Given the description of an element on the screen output the (x, y) to click on. 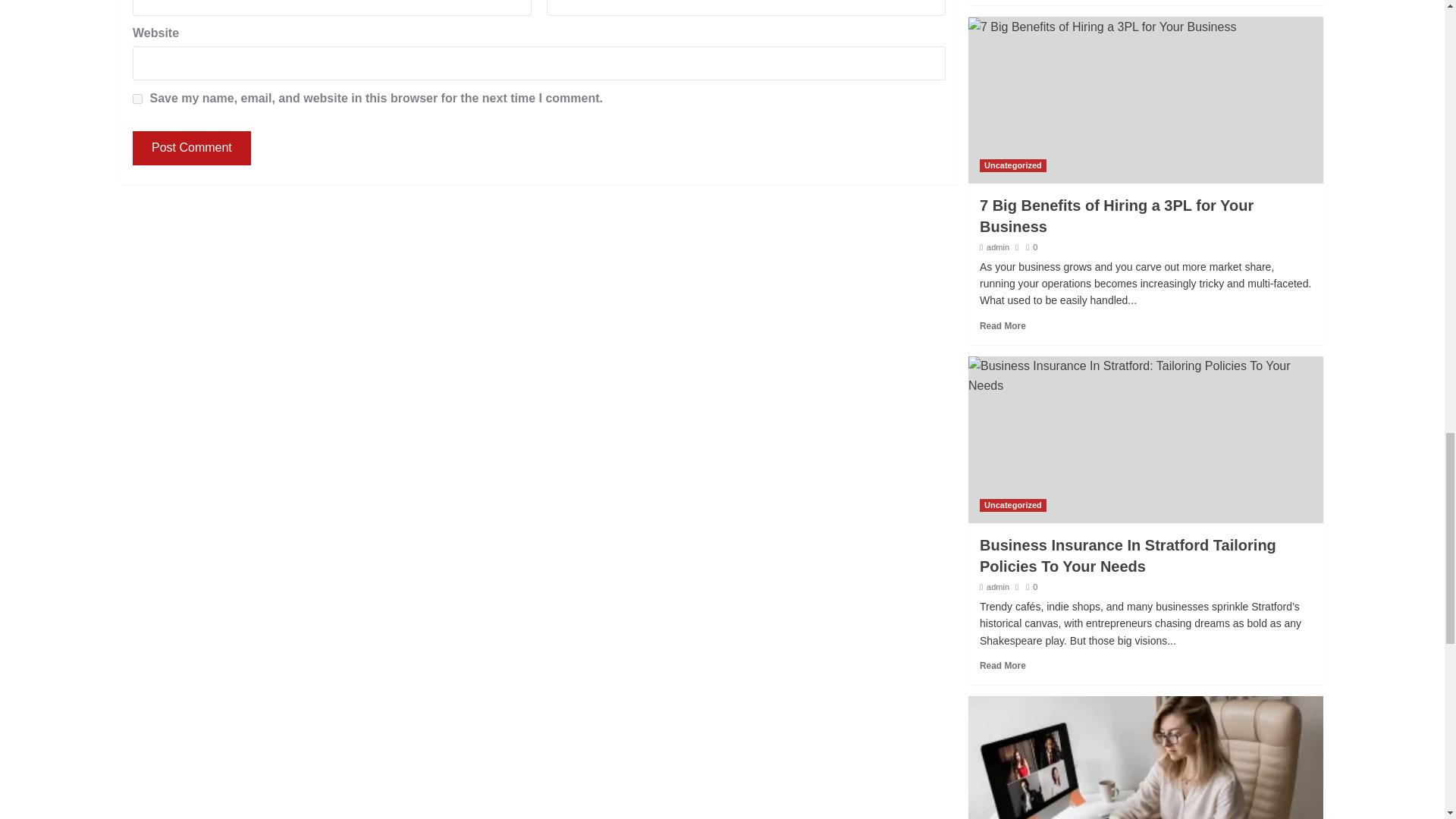
Post Comment (191, 148)
yes (137, 99)
